Given the description of an element on the screen output the (x, y) to click on. 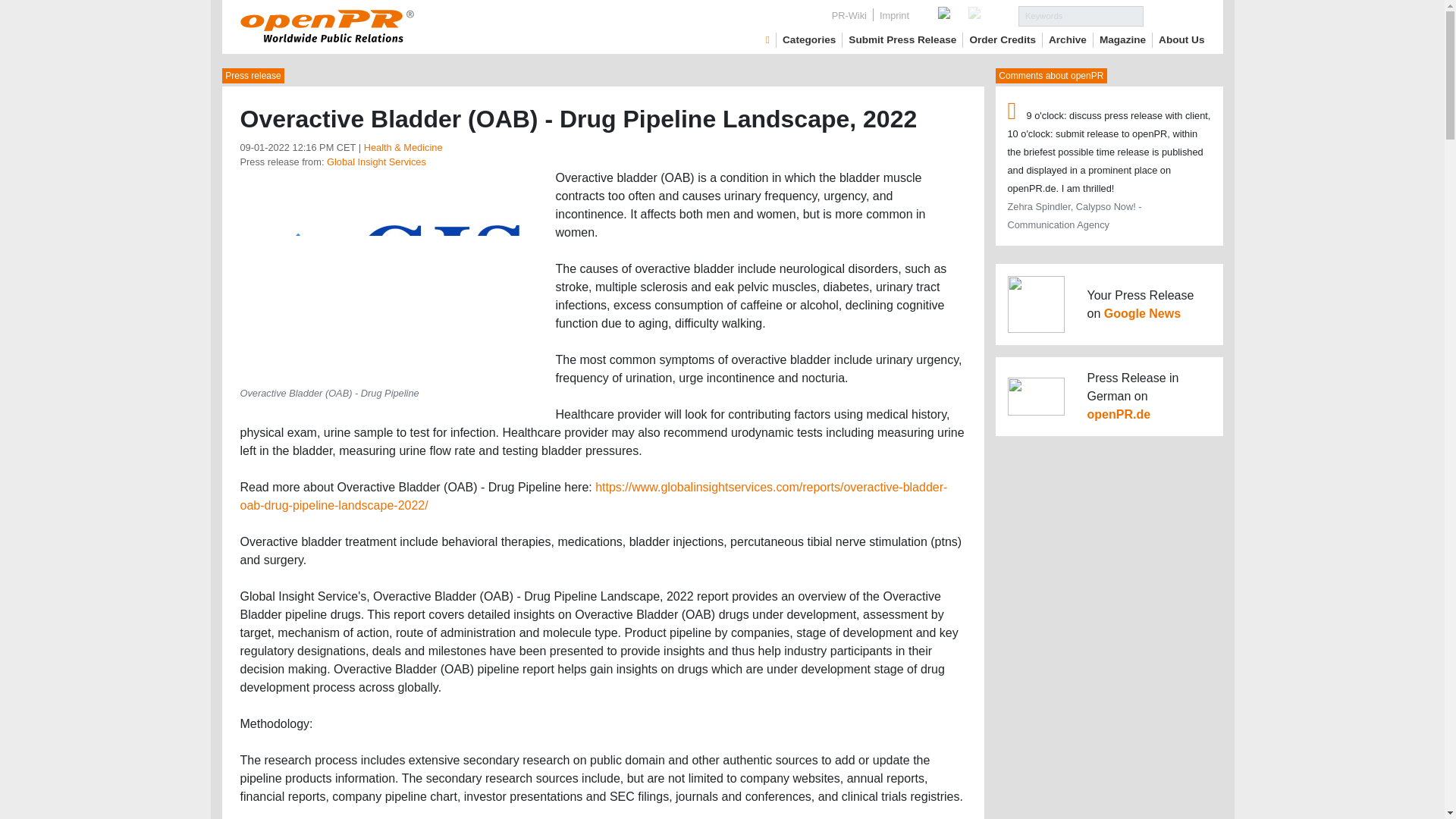
Archive (1067, 39)
About Us (1181, 39)
Categories (809, 39)
Submit Press Release (902, 39)
archive und pressrelease of Global Insight Services (376, 161)
Imprint (894, 15)
PR-Wiki (848, 15)
Global Insight Services (376, 161)
Search   (1173, 15)
Magazine (1122, 39)
